Given the description of an element on the screen output the (x, y) to click on. 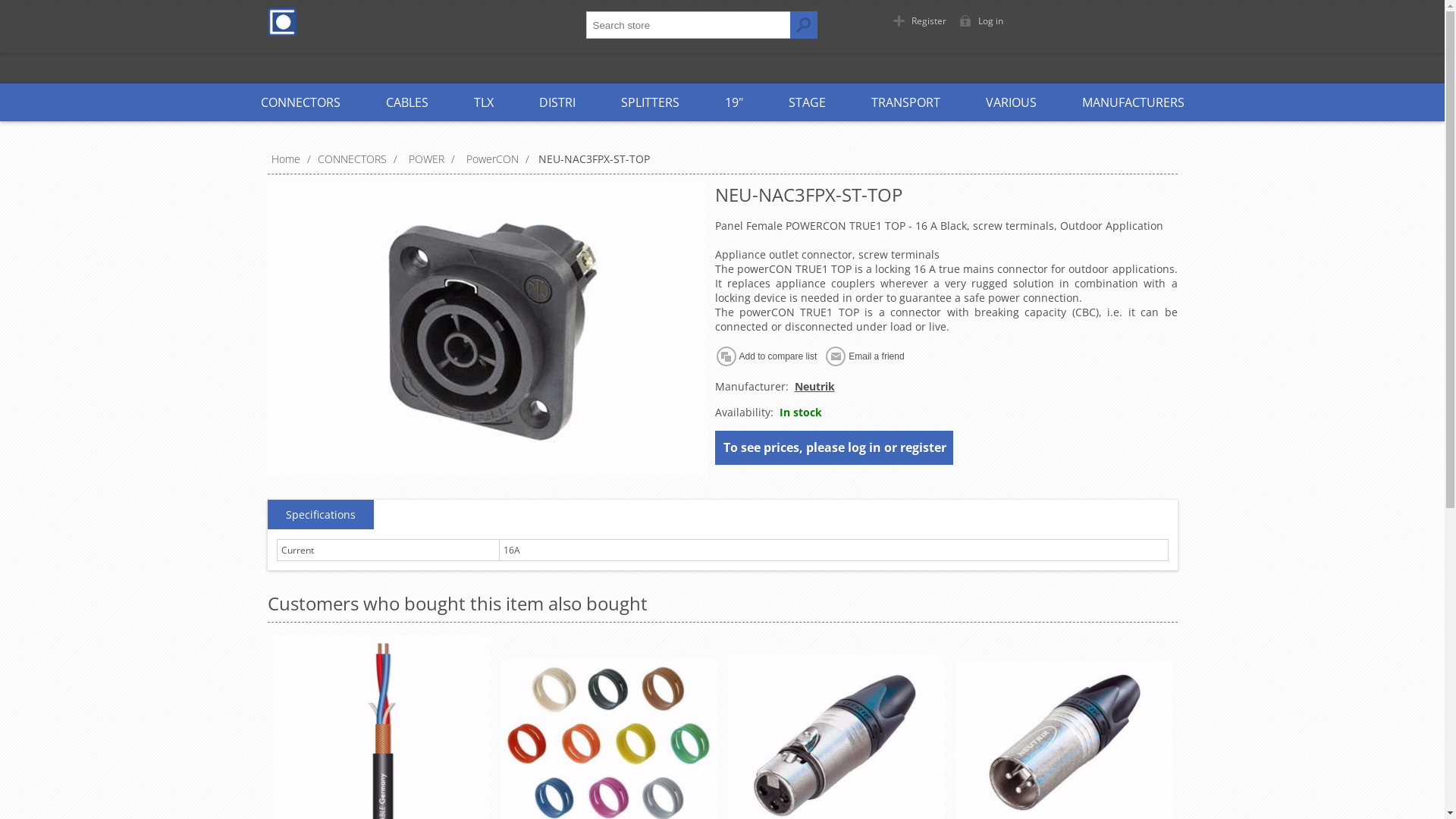
CONNECTORS Element type: text (352, 158)
CABLES Element type: text (406, 102)
STAGE Element type: text (806, 102)
Search Element type: text (803, 24)
TLX Element type: text (482, 102)
Add to compare list Element type: text (769, 356)
VARIOUS Element type: text (1011, 102)
PowerCON Element type: text (492, 158)
SPLITTERS Element type: text (649, 102)
Email a friend Element type: text (867, 356)
Neutrik Element type: text (814, 386)
Home Element type: text (286, 158)
CONNECTORS Element type: text (300, 102)
TRANSPORT Element type: text (904, 102)
Log in Element type: text (983, 20)
To see prices, please log in or register Element type: text (834, 446)
Register Element type: text (921, 20)
19" Element type: text (733, 102)
DISTRI Element type: text (556, 102)
MANUFACTURERS Element type: text (1132, 102)
POWER Element type: text (426, 158)
Specifications Element type: text (319, 514)
